Given the description of an element on the screen output the (x, y) to click on. 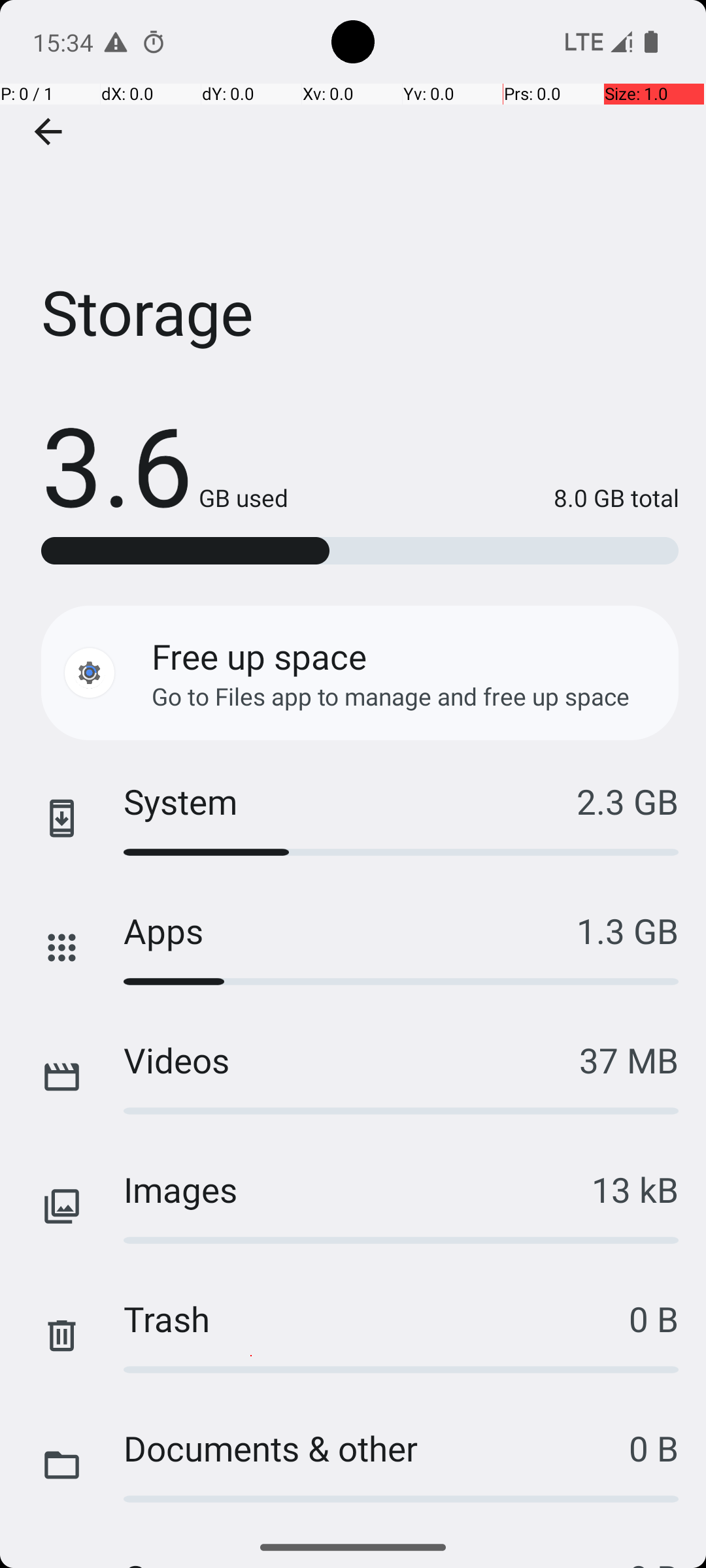
3.6 GB used Element type: android.widget.TextView (164, 463)
8.0 GB total Element type: android.widget.TextView (483, 497)
Free up space Element type: android.widget.TextView (258, 656)
Go to Files app to manage and free up space Element type: android.widget.TextView (390, 695)
2.3 GB Element type: android.widget.TextView (627, 801)
1.3 GB Element type: android.widget.TextView (627, 930)
37 MB Element type: android.widget.TextView (628, 1059)
13 kB Element type: android.widget.TextView (634, 1189)
Documents & other Element type: android.widget.TextView (375, 1447)
